Given the description of an element on the screen output the (x, y) to click on. 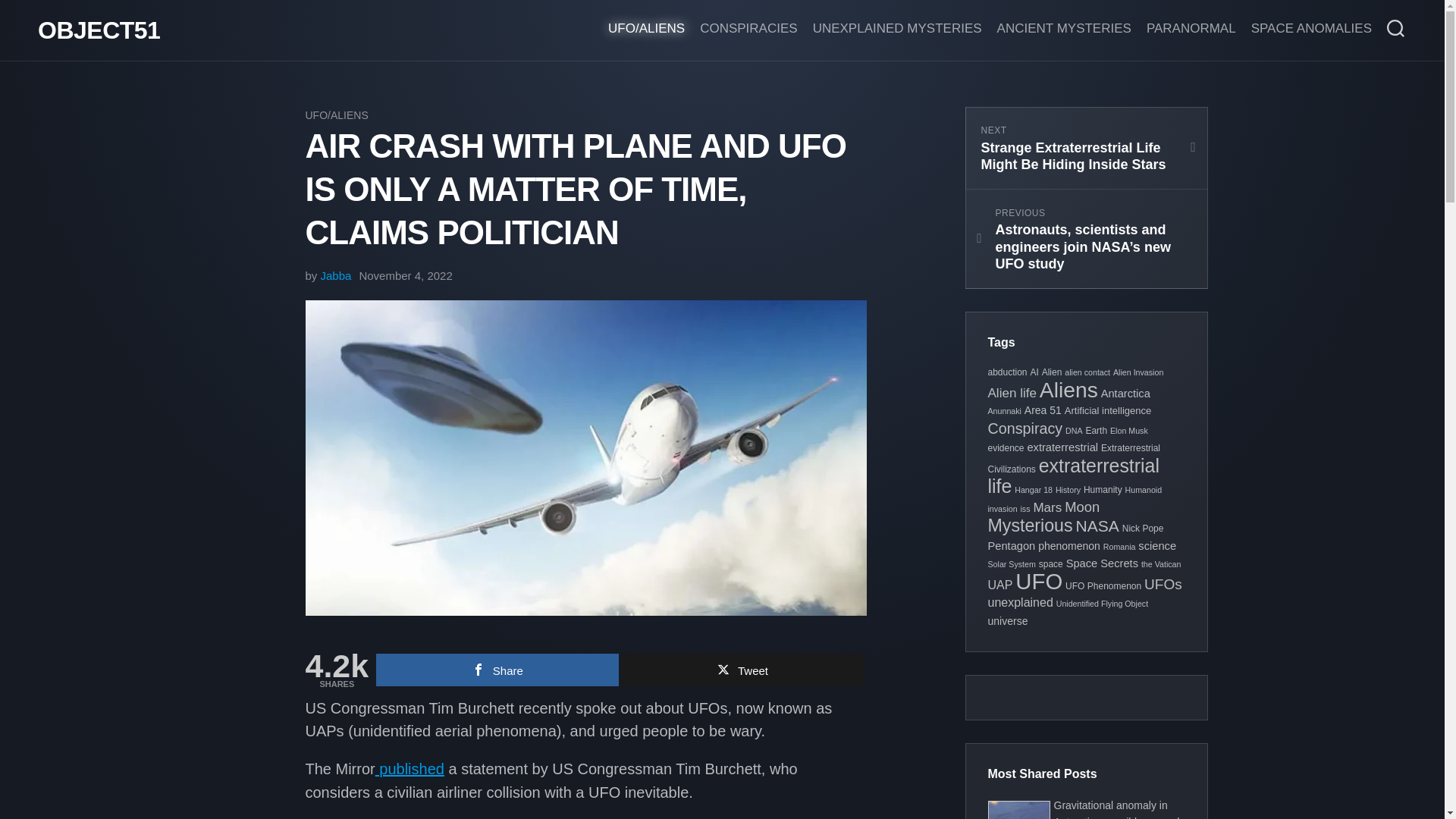
UNEXPLAINED MYSTERIES (896, 28)
OBJECT51 (98, 30)
Share (496, 669)
Jabba (336, 275)
PARANORMAL (1191, 28)
abduction (1006, 371)
CONSPIRACIES (748, 28)
Tweet (742, 669)
Alien (1052, 371)
